Given the description of an element on the screen output the (x, y) to click on. 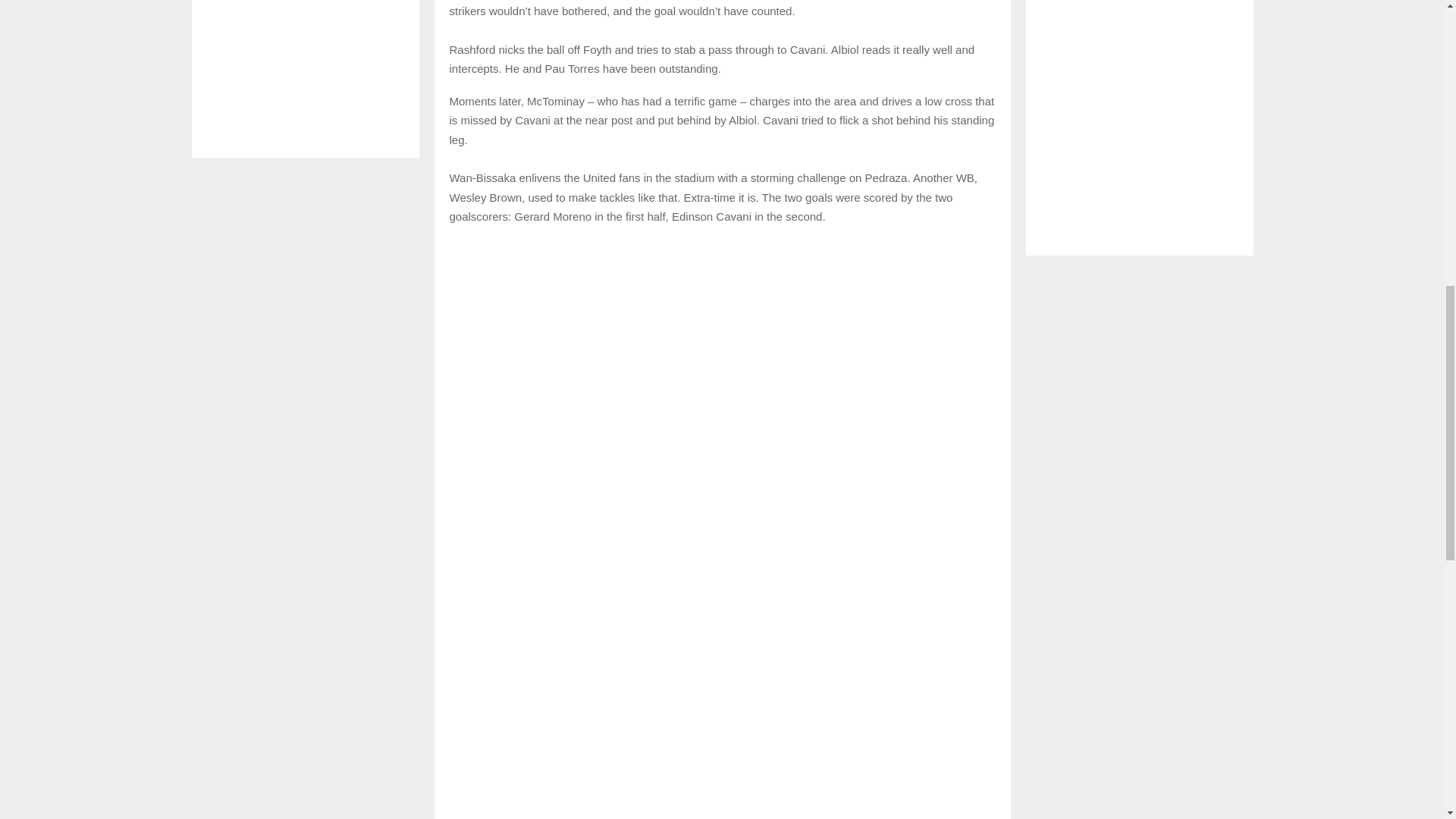
Advertisement (1139, 120)
Advertisement (304, 71)
